Given the description of an element on the screen output the (x, y) to click on. 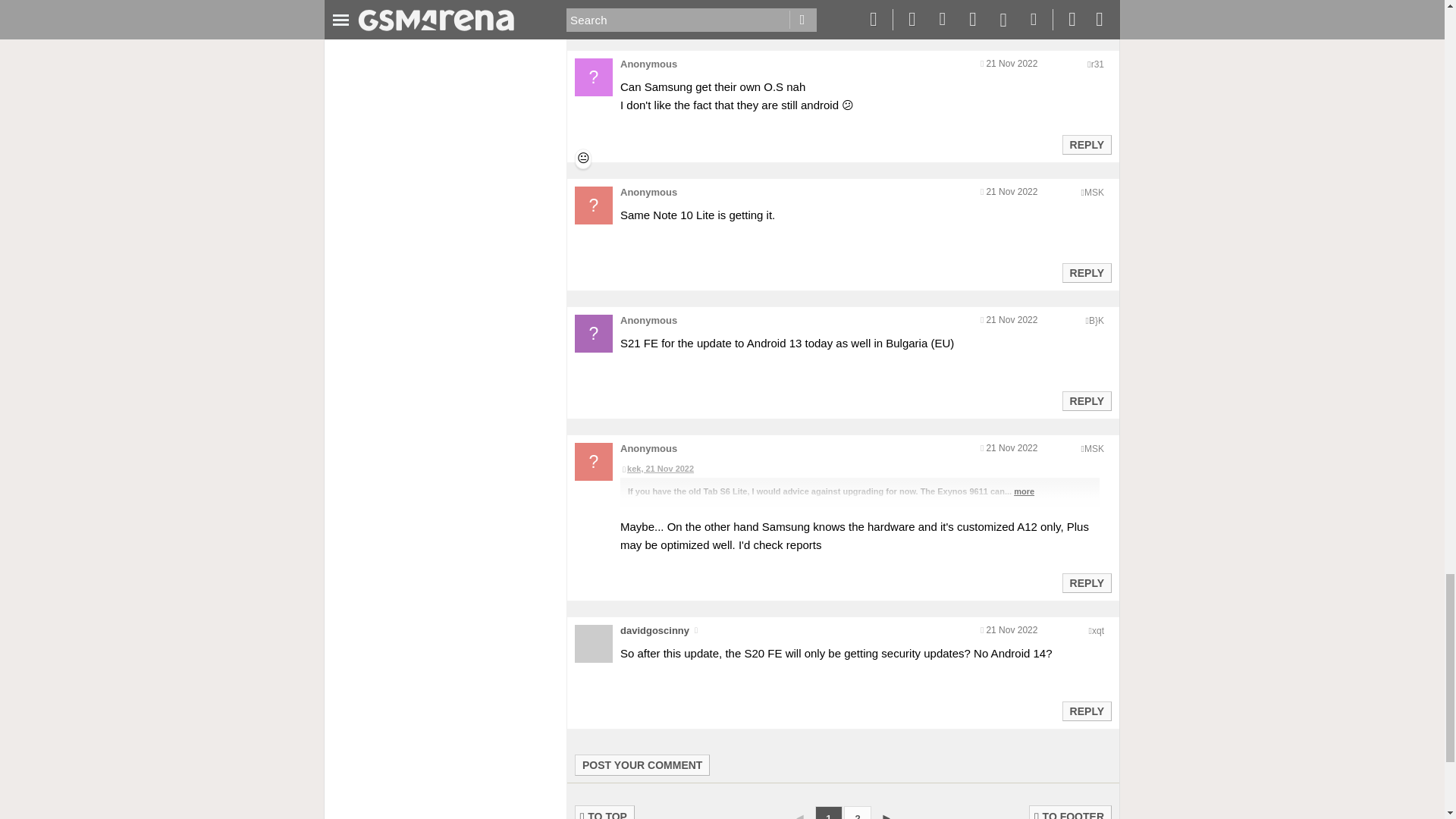
TO TOP (604, 812)
